Given the description of an element on the screen output the (x, y) to click on. 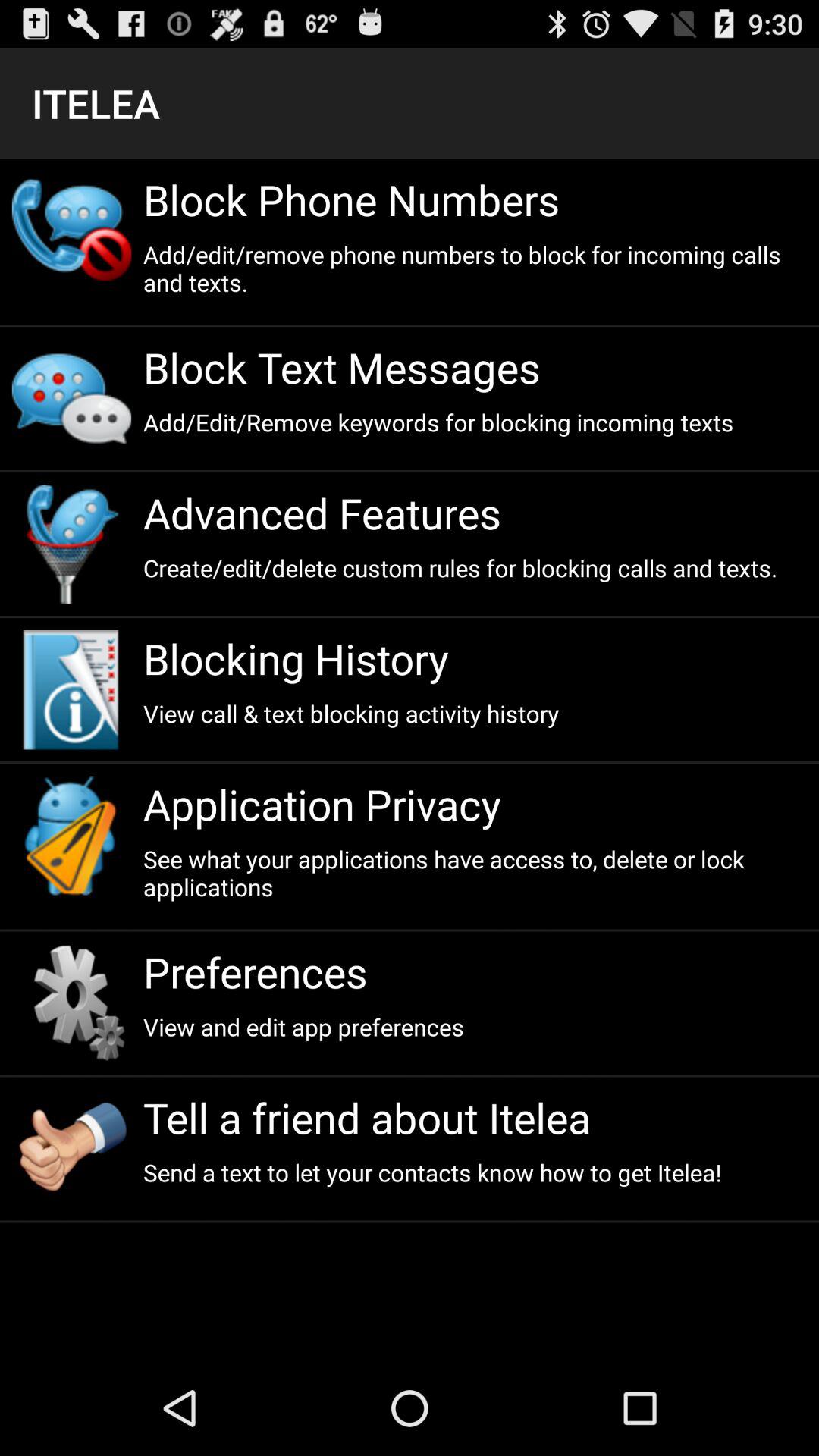
press the app below add edit remove icon (475, 366)
